Given the description of an element on the screen output the (x, y) to click on. 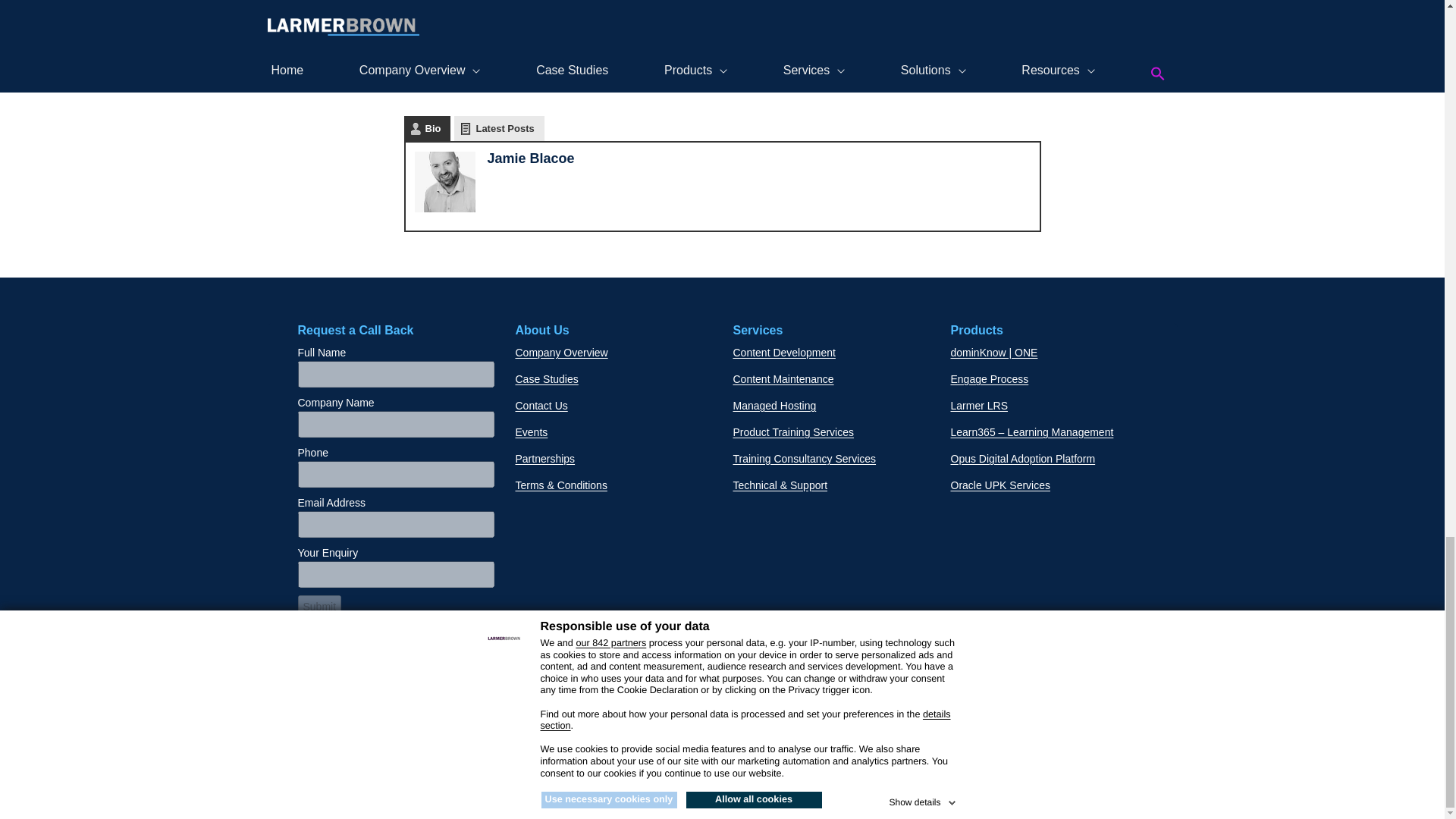
Submit (318, 606)
